Given the description of an element on the screen output the (x, y) to click on. 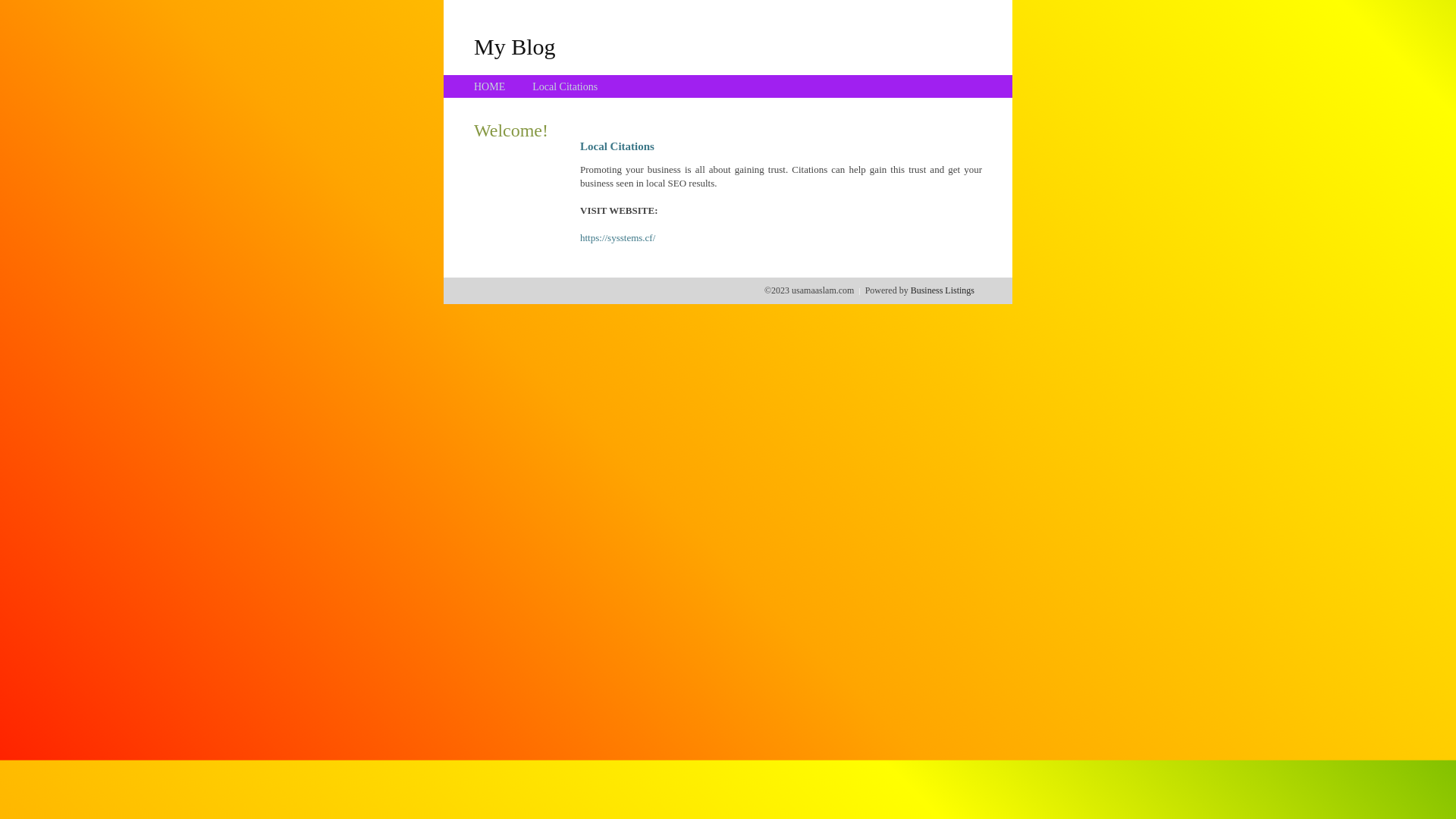
HOME Element type: text (489, 86)
Business Listings Element type: text (942, 290)
https://sysstems.cf/ Element type: text (617, 237)
Local Citations Element type: text (564, 86)
My Blog Element type: text (514, 46)
